Given the description of an element on the screen output the (x, y) to click on. 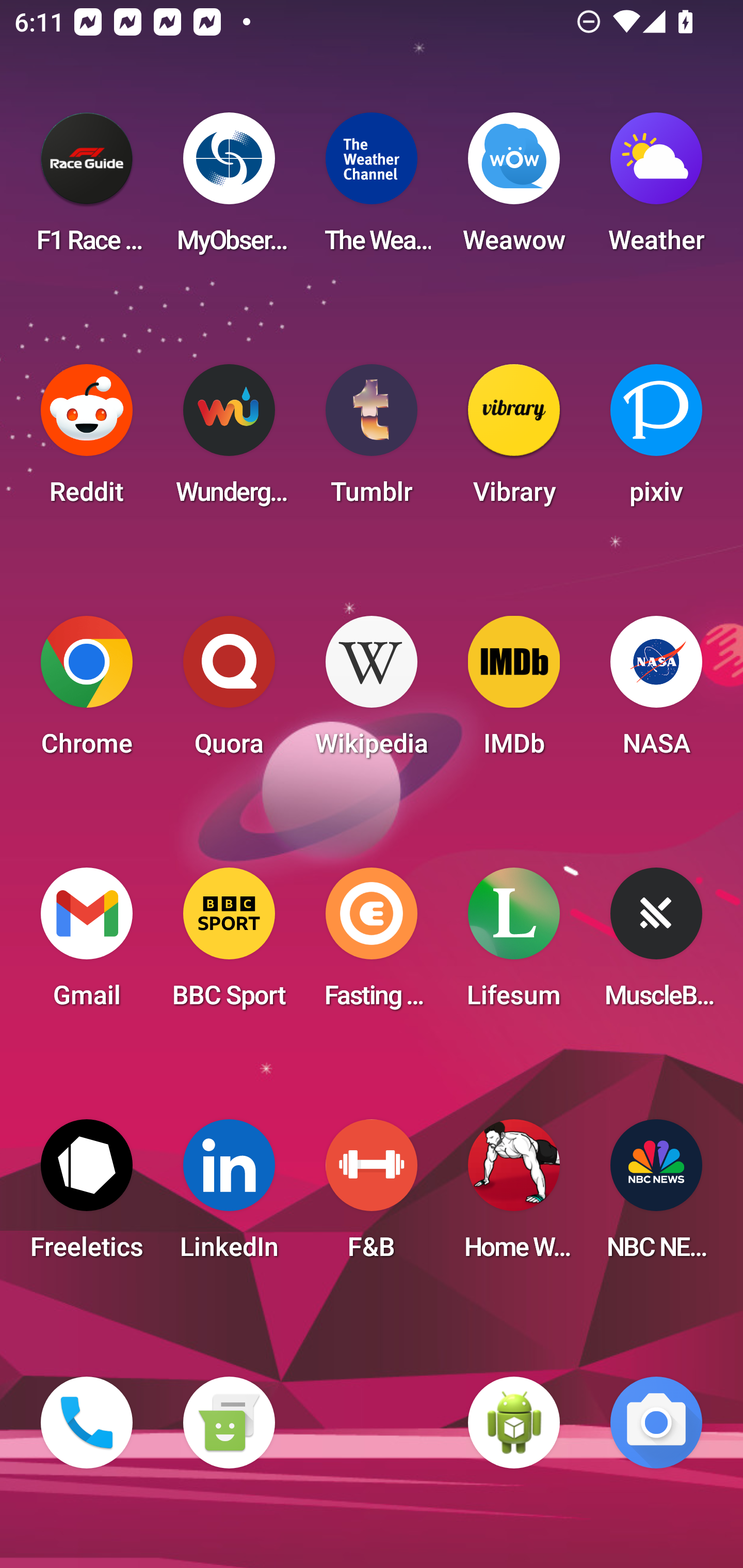
F1 Race Guide (86, 188)
MyObservatory (228, 188)
The Weather Channel (371, 188)
Weawow (513, 188)
Weather (656, 188)
Reddit (86, 440)
Wunderground (228, 440)
Tumblr (371, 440)
Vibrary (513, 440)
pixiv (656, 440)
Chrome (86, 692)
Quora (228, 692)
Wikipedia (371, 692)
IMDb (513, 692)
NASA (656, 692)
Gmail (86, 943)
BBC Sport (228, 943)
Fasting Coach (371, 943)
Lifesum (513, 943)
MuscleBooster (656, 943)
Freeletics (86, 1195)
LinkedIn (228, 1195)
F&B (371, 1195)
Home Workout (513, 1195)
NBC NEWS (656, 1195)
Phone (86, 1422)
Messaging (228, 1422)
WebView Browser Tester (513, 1422)
Camera (656, 1422)
